Given the description of an element on the screen output the (x, y) to click on. 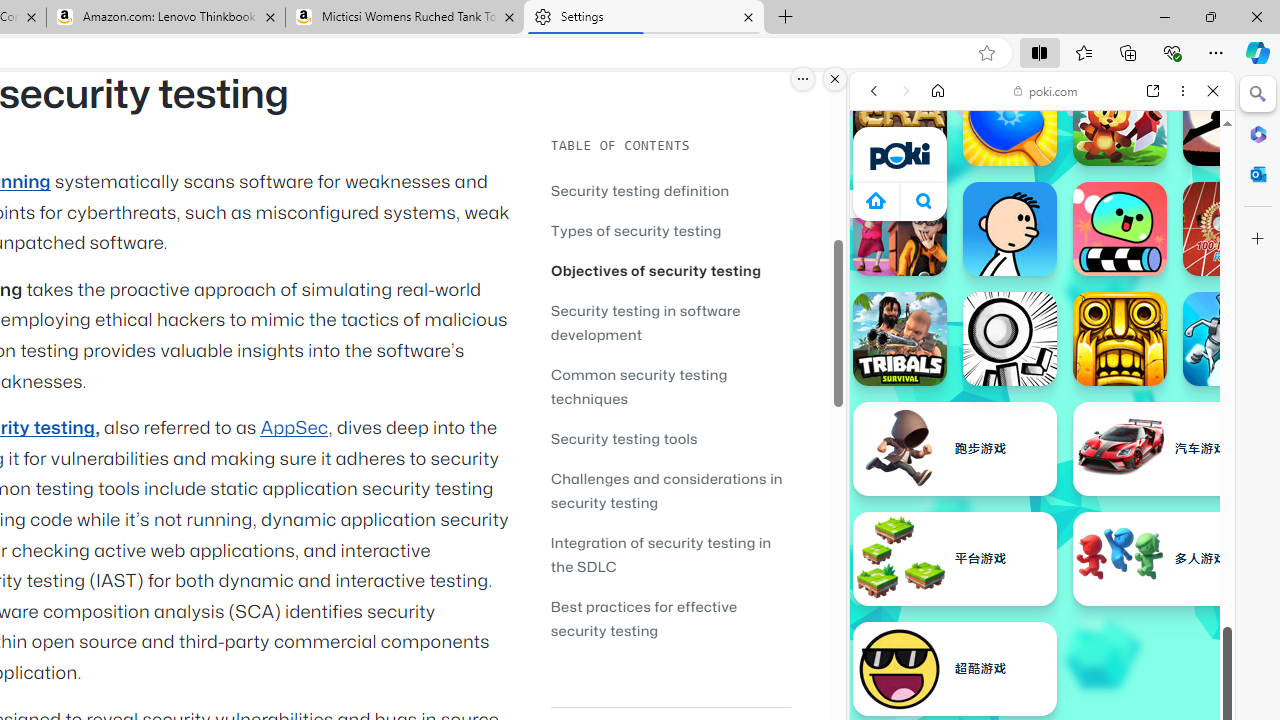
Security testing definition (670, 190)
Objectives of security testing (670, 269)
100 Metres Race 100 Metres Race (1229, 228)
Show More Shooting Games (1164, 521)
Integration of security testing in the SDLC (660, 554)
Objectives of security testing (655, 270)
Show More Car Games (1164, 472)
Security testing tools (623, 438)
